Given the description of an element on the screen output the (x, y) to click on. 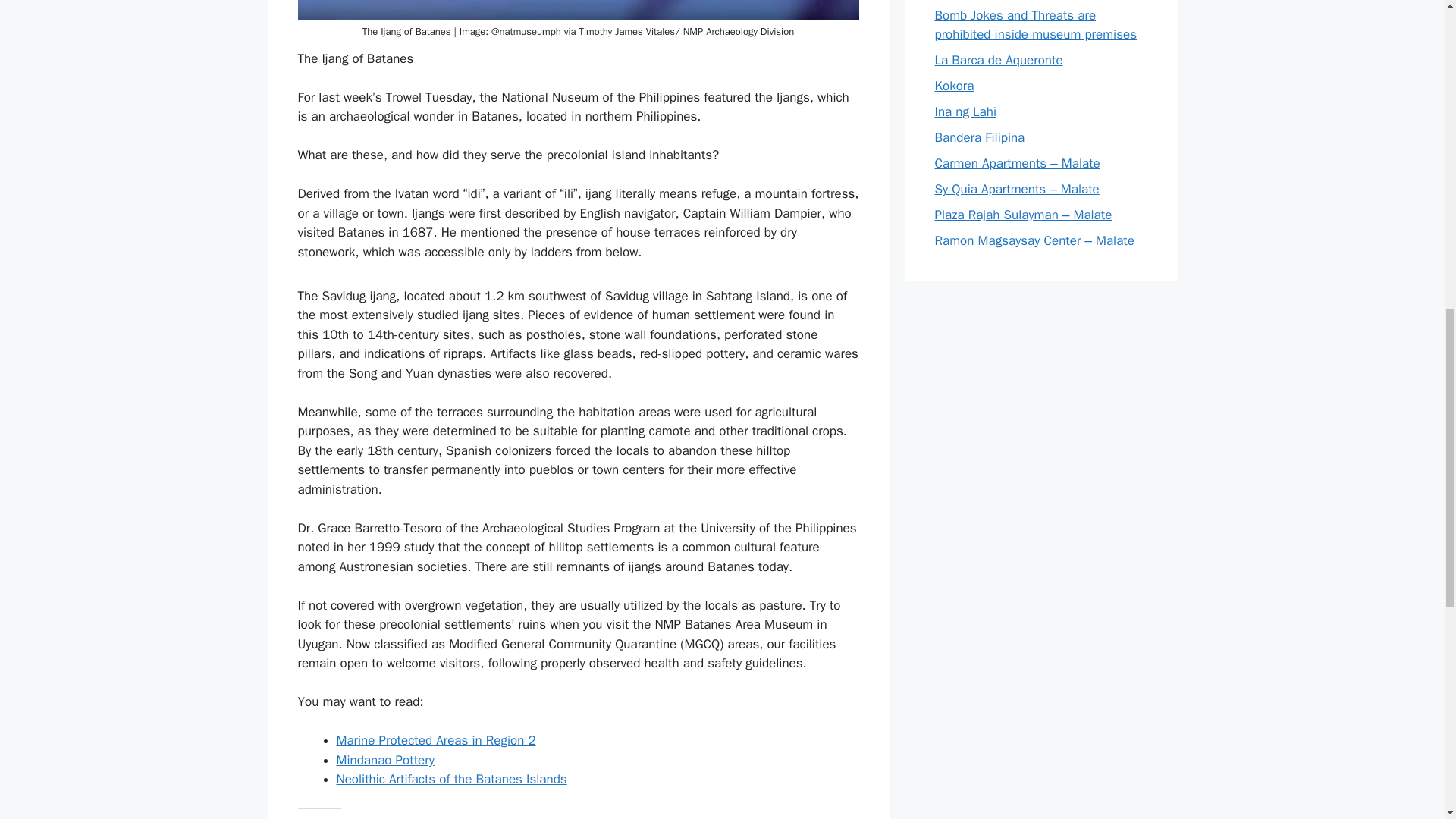
Bomb Jokes and Threats are prohibited inside museum premises (1035, 25)
Mindanao Pottery (384, 760)
Marine Protected Areas in Region 2 (435, 740)
La Barca de Aqueronte (998, 59)
Neolithic Artifacts of the Batanes Islands (451, 779)
The Ijang of Batanes (578, 9)
